Given the description of an element on the screen output the (x, y) to click on. 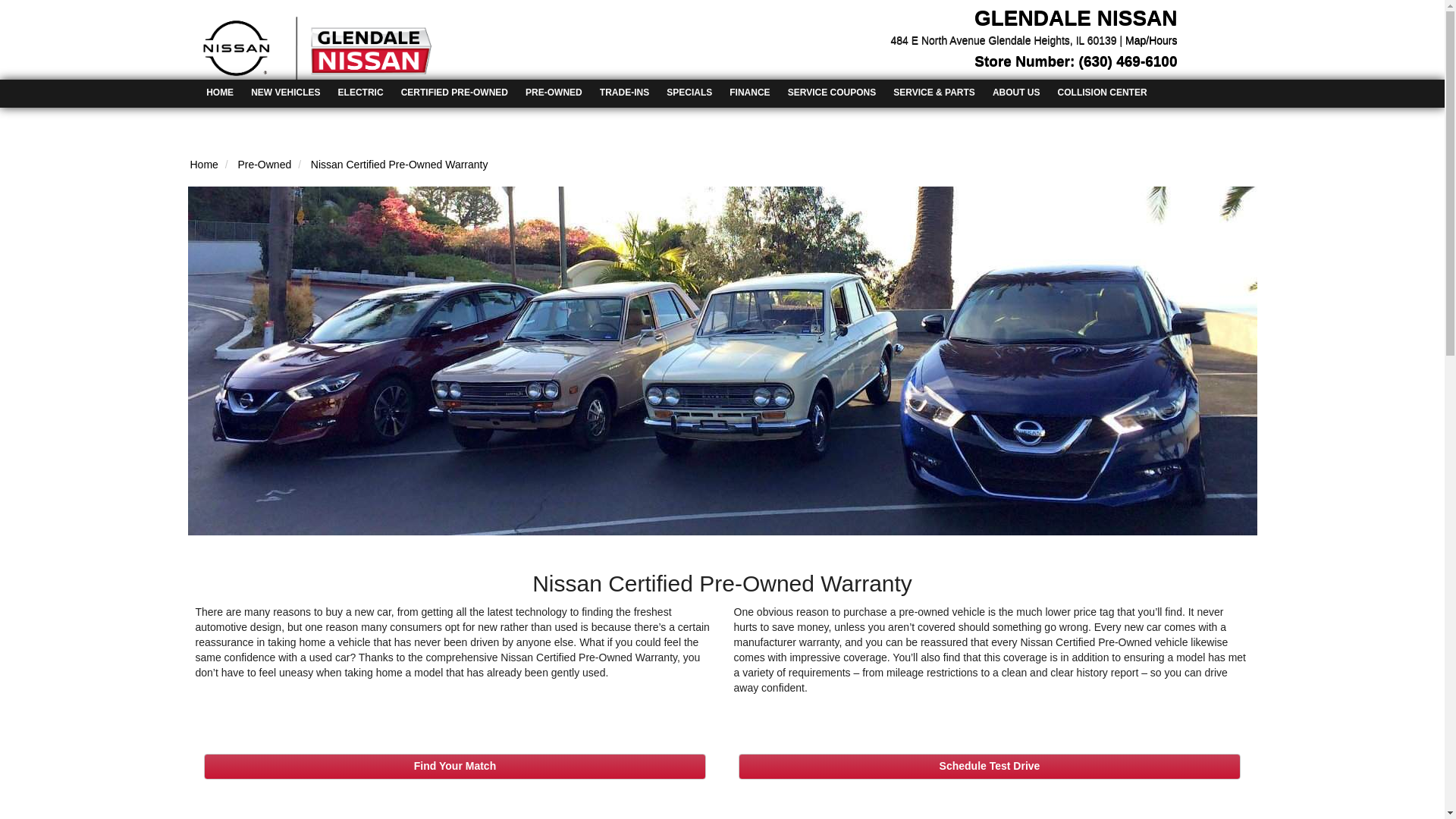
Store Number: (1026, 60)
HOME (219, 93)
NEW VEHICLES (285, 93)
Home (219, 91)
New Vehicles (285, 91)
GLENDALE NISSAN (1075, 17)
